Given the description of an element on the screen output the (x, y) to click on. 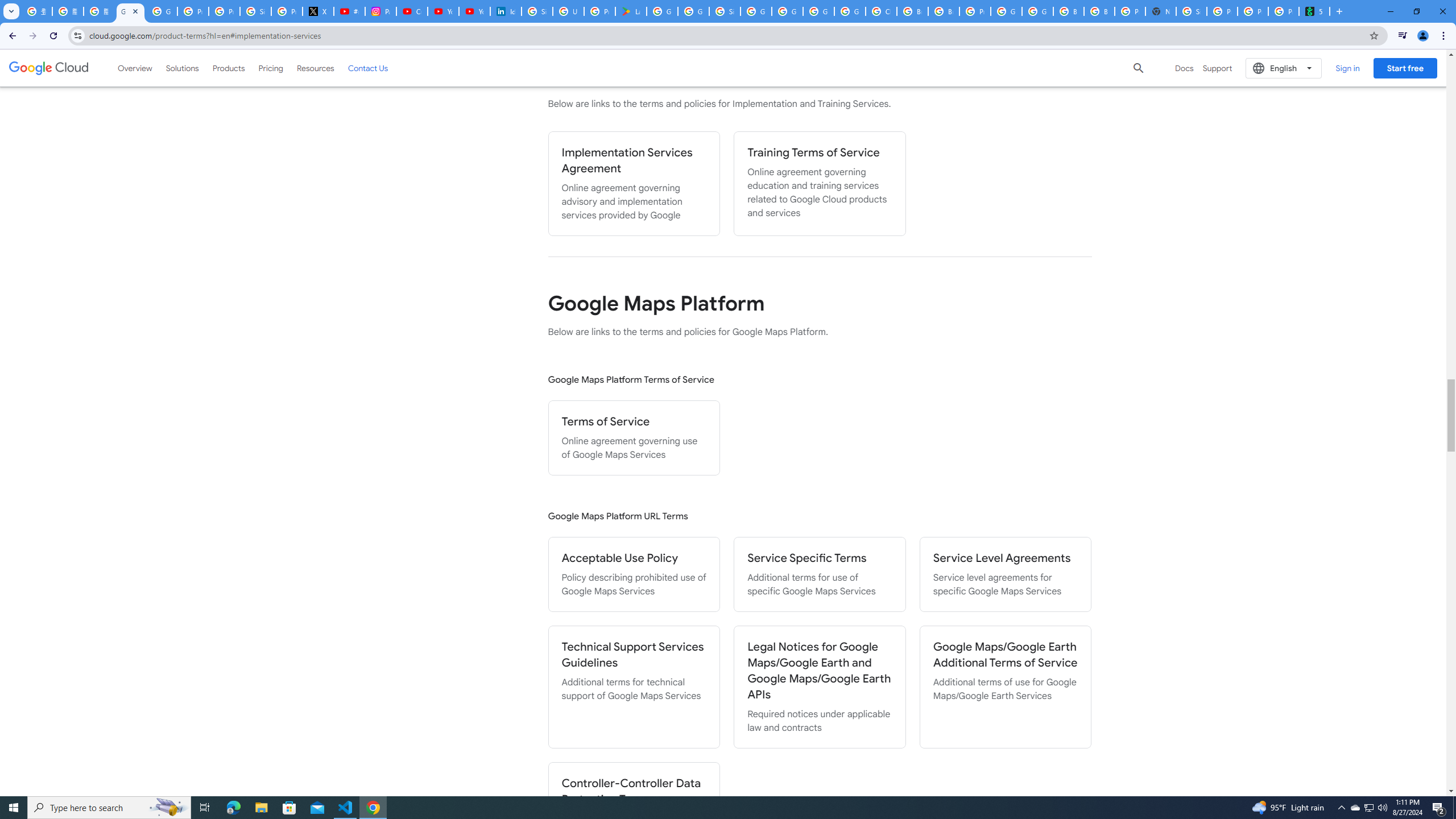
New Tab (1160, 11)
Browse Chrome as a guest - Computer - Google Chrome Help (912, 11)
Sign in - Google Accounts (536, 11)
Pricing (270, 67)
